Given the description of an element on the screen output the (x, y) to click on. 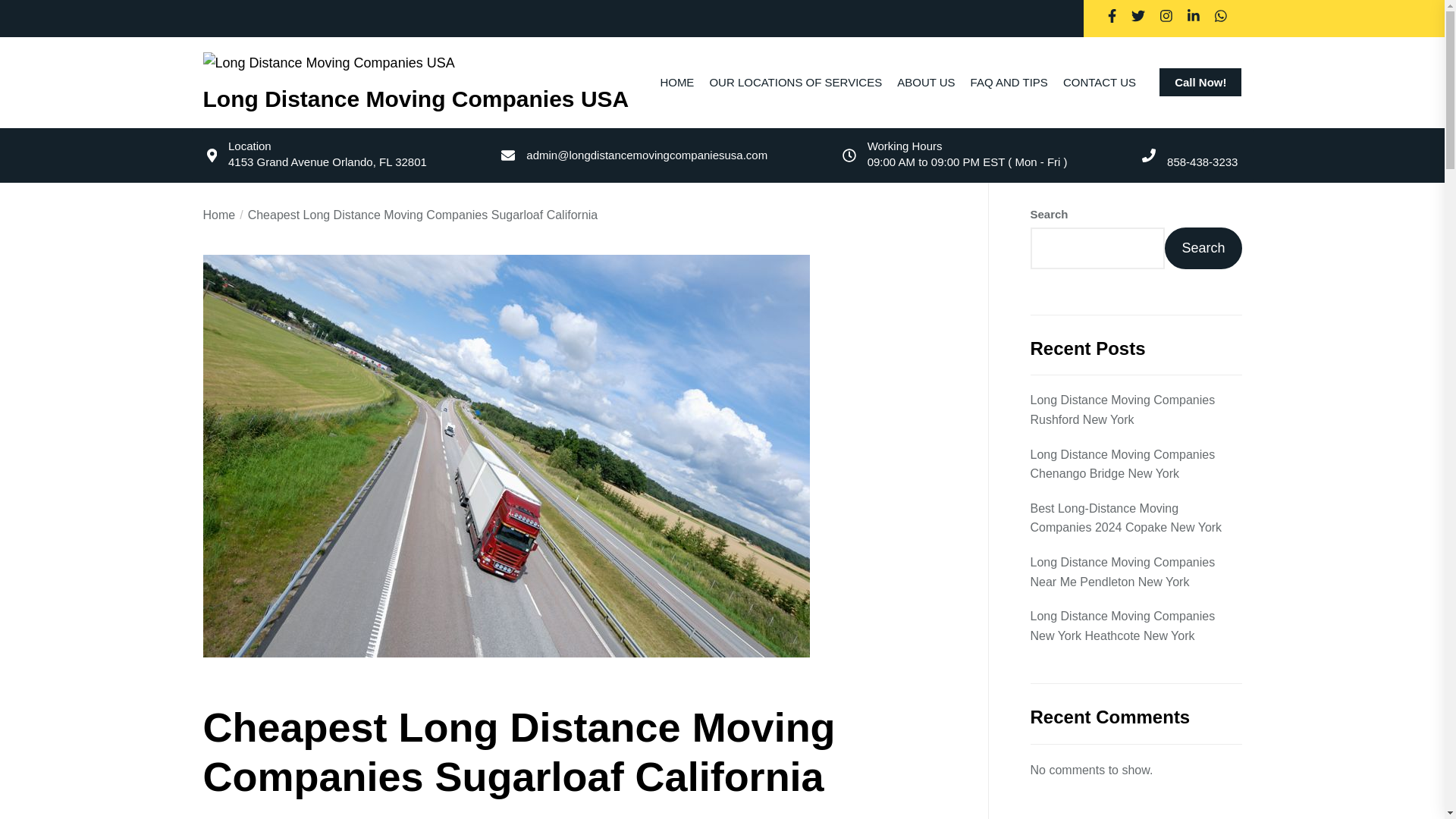
Cheapest Long Distance Moving Companies Sugarloaf California (415, 214)
OUR LOCATIONS OF SERVICES (795, 81)
Call Now! (1199, 81)
Search (1202, 248)
FAQ AND TIPS (1009, 81)
Long Distance Moving Companies Near Me Pendleton New York (1135, 571)
Long Distance Moving Companies Chenango Bridge New York (1135, 464)
Best Long-Distance Moving Companies 2024 Copake New York (1135, 517)
Long Distance Moving Companies Rushford New York (1135, 409)
Long Distance Moving Companies New York Heathcote New York (1135, 625)
